Given the description of an element on the screen output the (x, y) to click on. 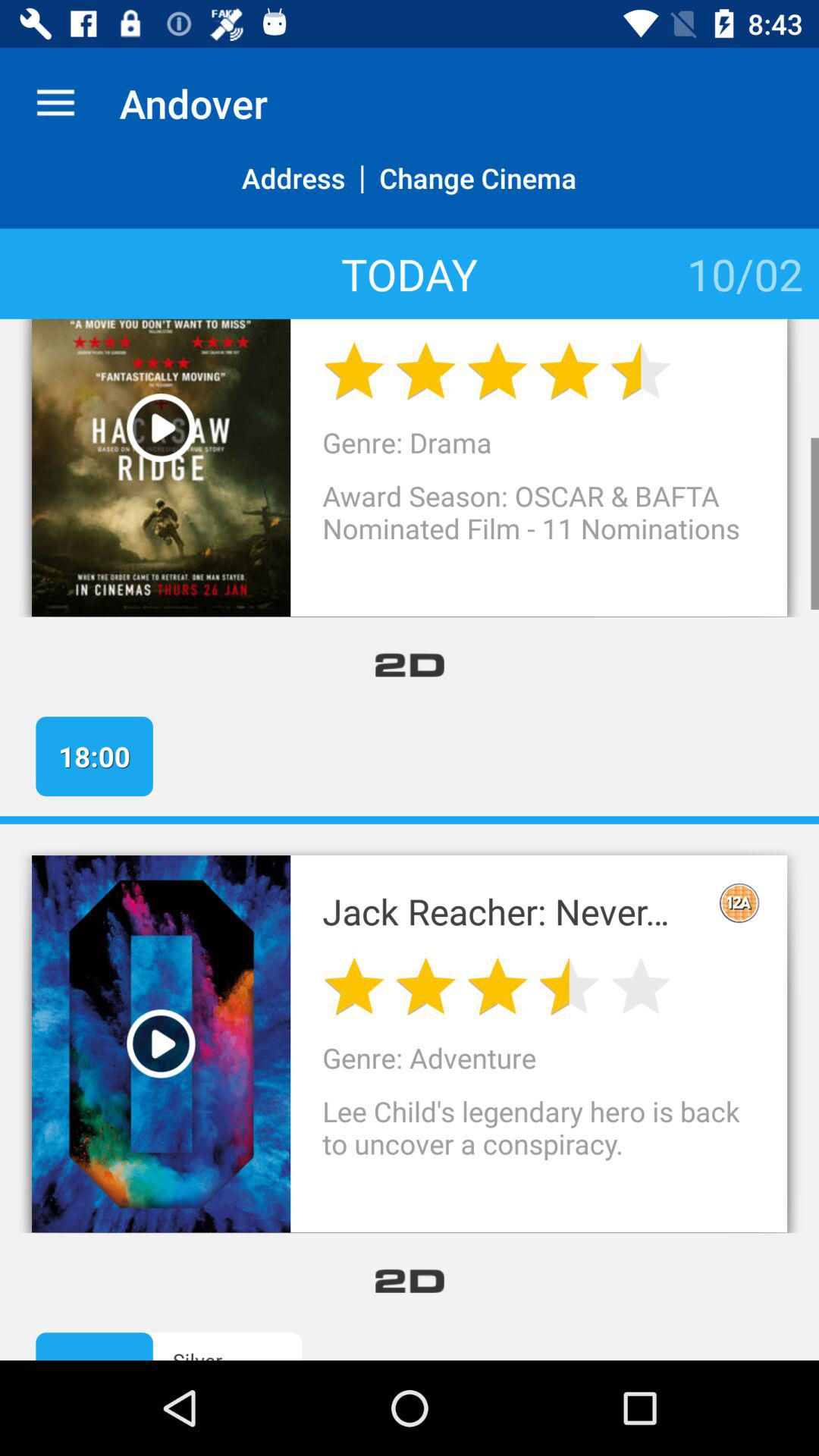
scroll to hacksaw ridge icon (510, 319)
